Given the description of an element on the screen output the (x, y) to click on. 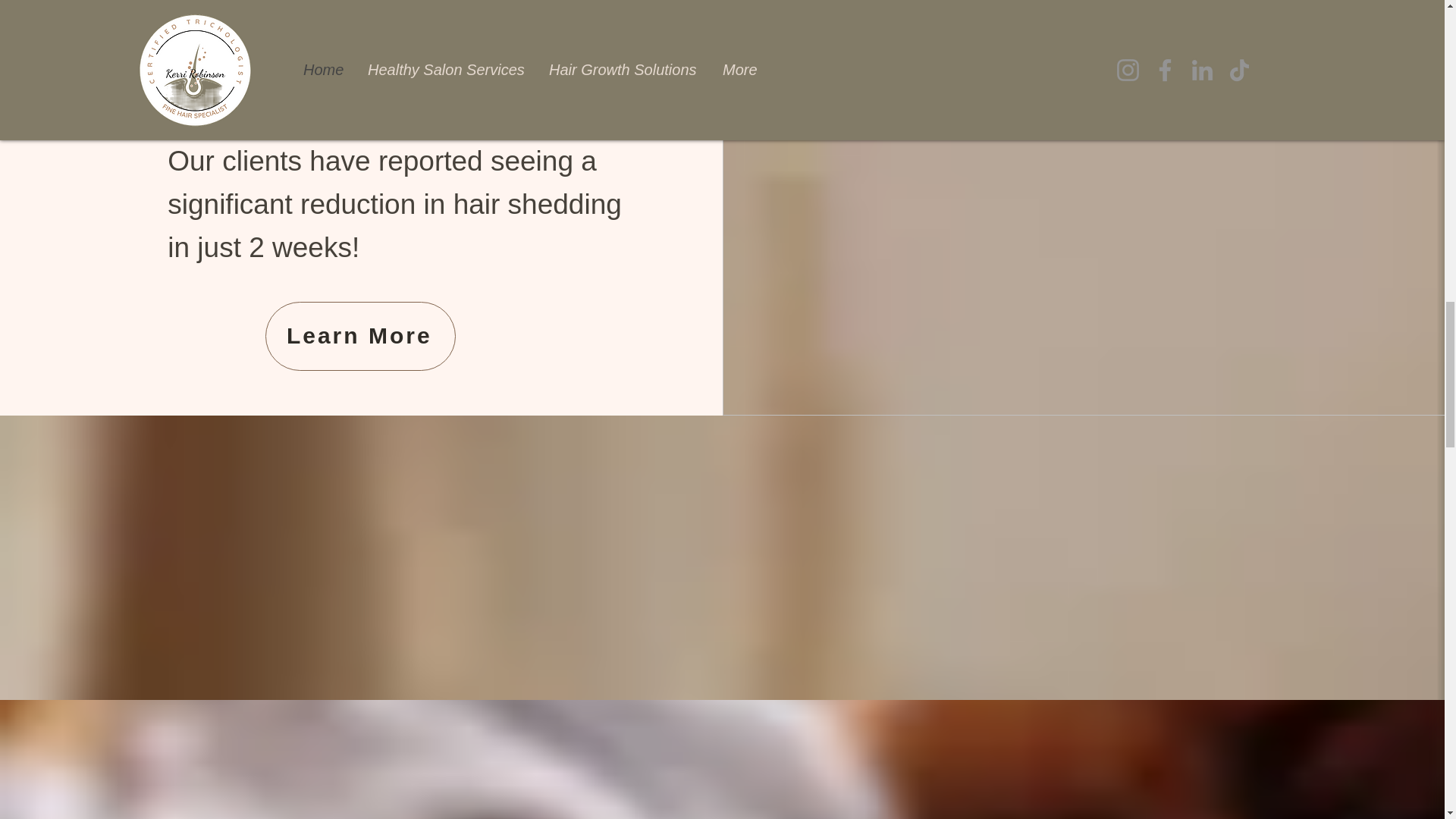
Learn More (359, 336)
